Given the description of an element on the screen output the (x, y) to click on. 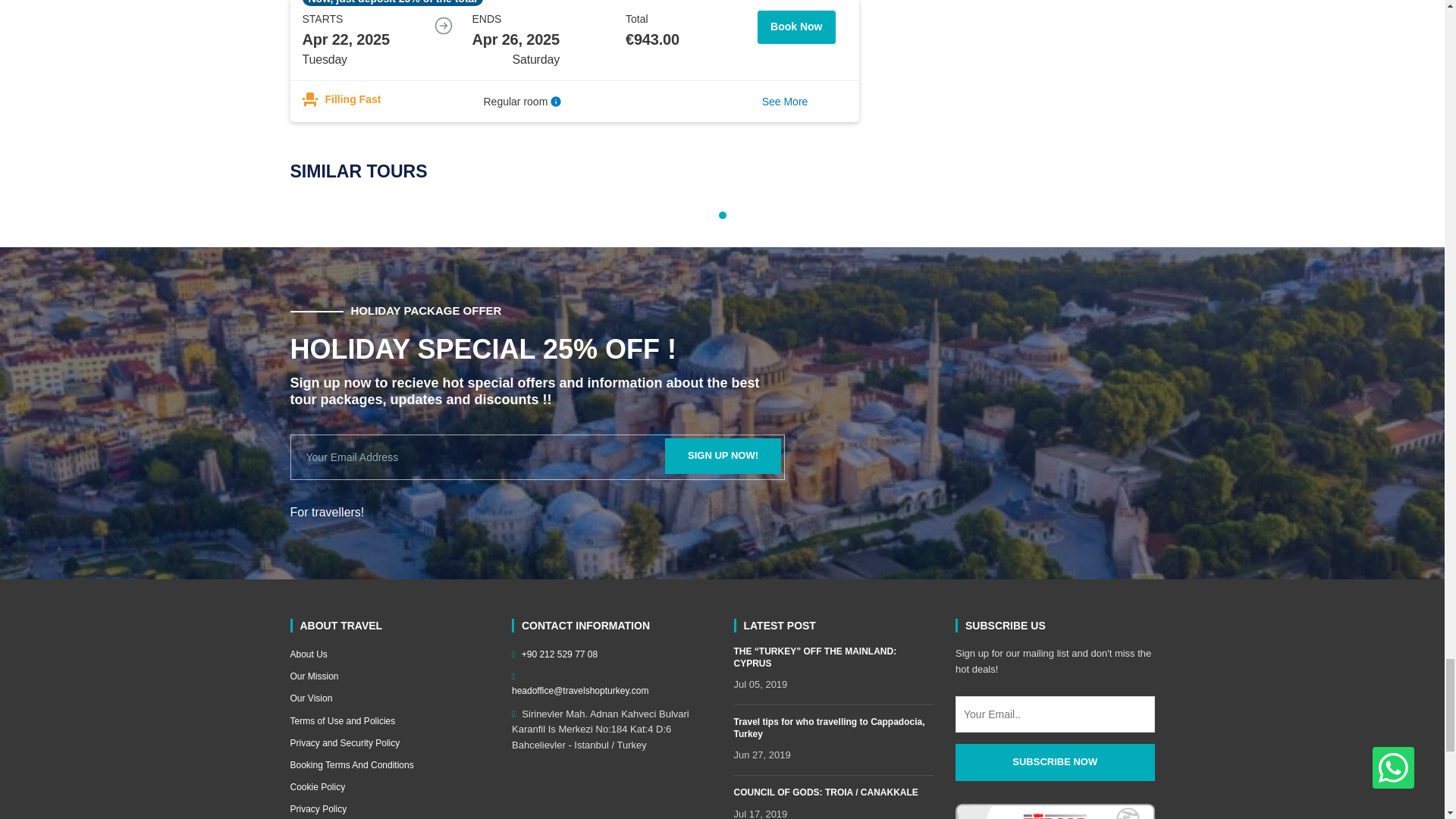
Cookie Policy (389, 787)
Booking Terms And Conditions (389, 765)
SUBSCRIBE NOW (1054, 762)
Book Now (795, 38)
About Us (389, 654)
Terms of Use and Policies (389, 721)
1 (722, 215)
SIGN UP NOW! (722, 456)
Privacy Policy (389, 809)
Our Mission (389, 676)
SIGN UP NOW! (722, 456)
Privacy and Security Policy (389, 743)
Our Vision (389, 698)
See More (784, 101)
